Given the description of an element on the screen output the (x, y) to click on. 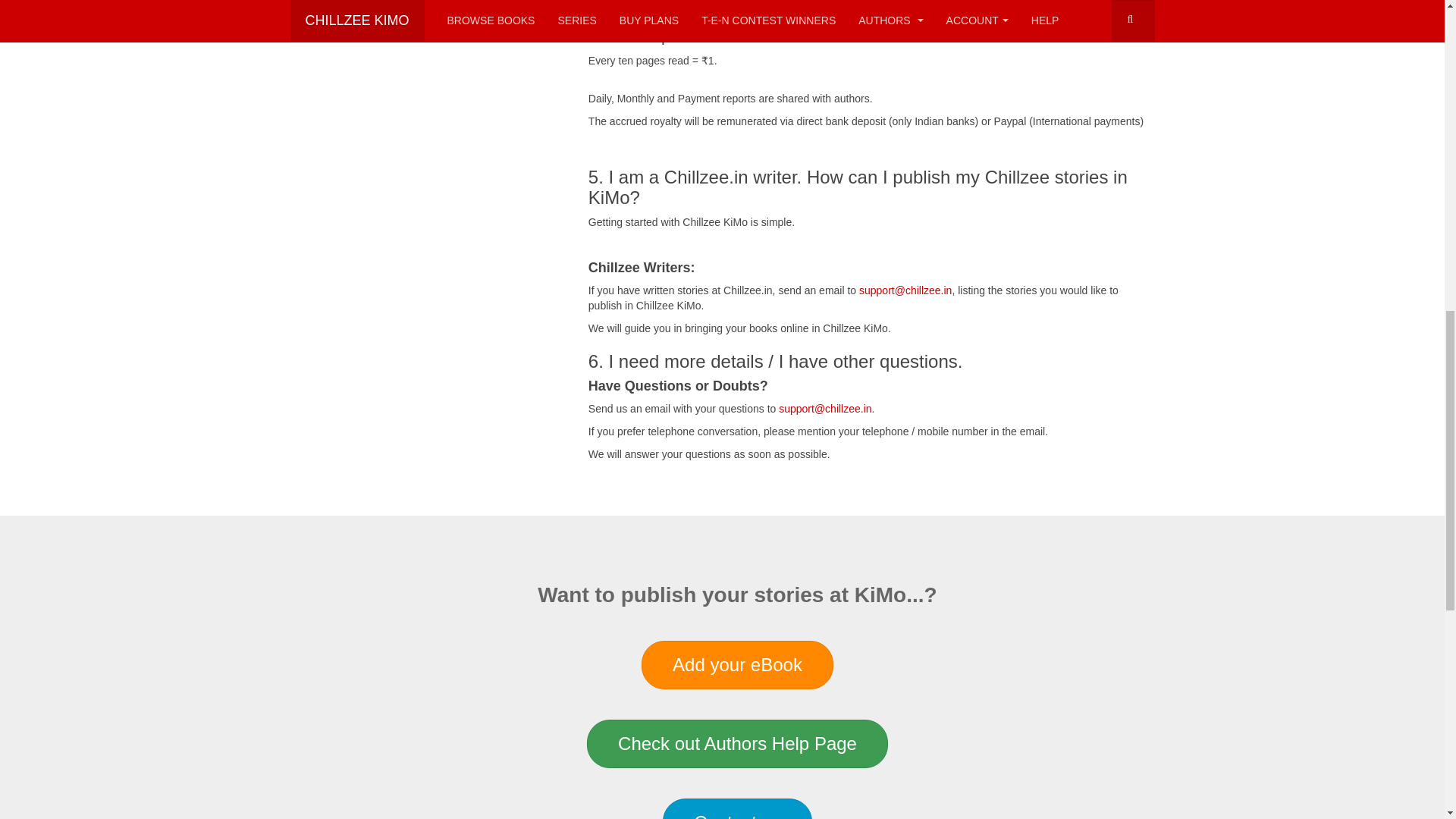
Check out Authors Help Page (737, 743)
Contact us (737, 808)
Add your eBook (737, 664)
